Given the description of an element on the screen output the (x, y) to click on. 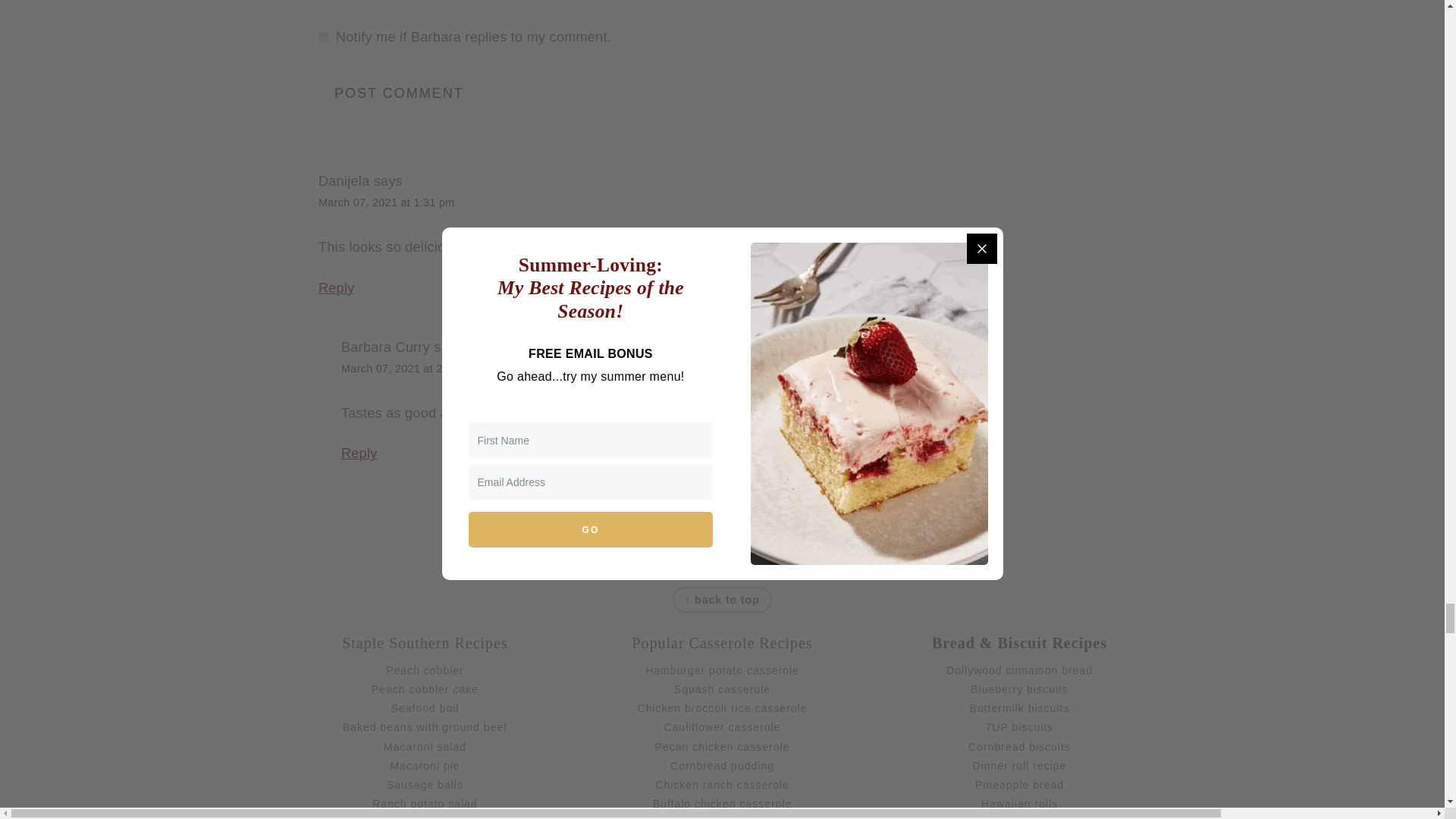
Post Comment (399, 93)
on (323, 37)
